Given the description of an element on the screen output the (x, y) to click on. 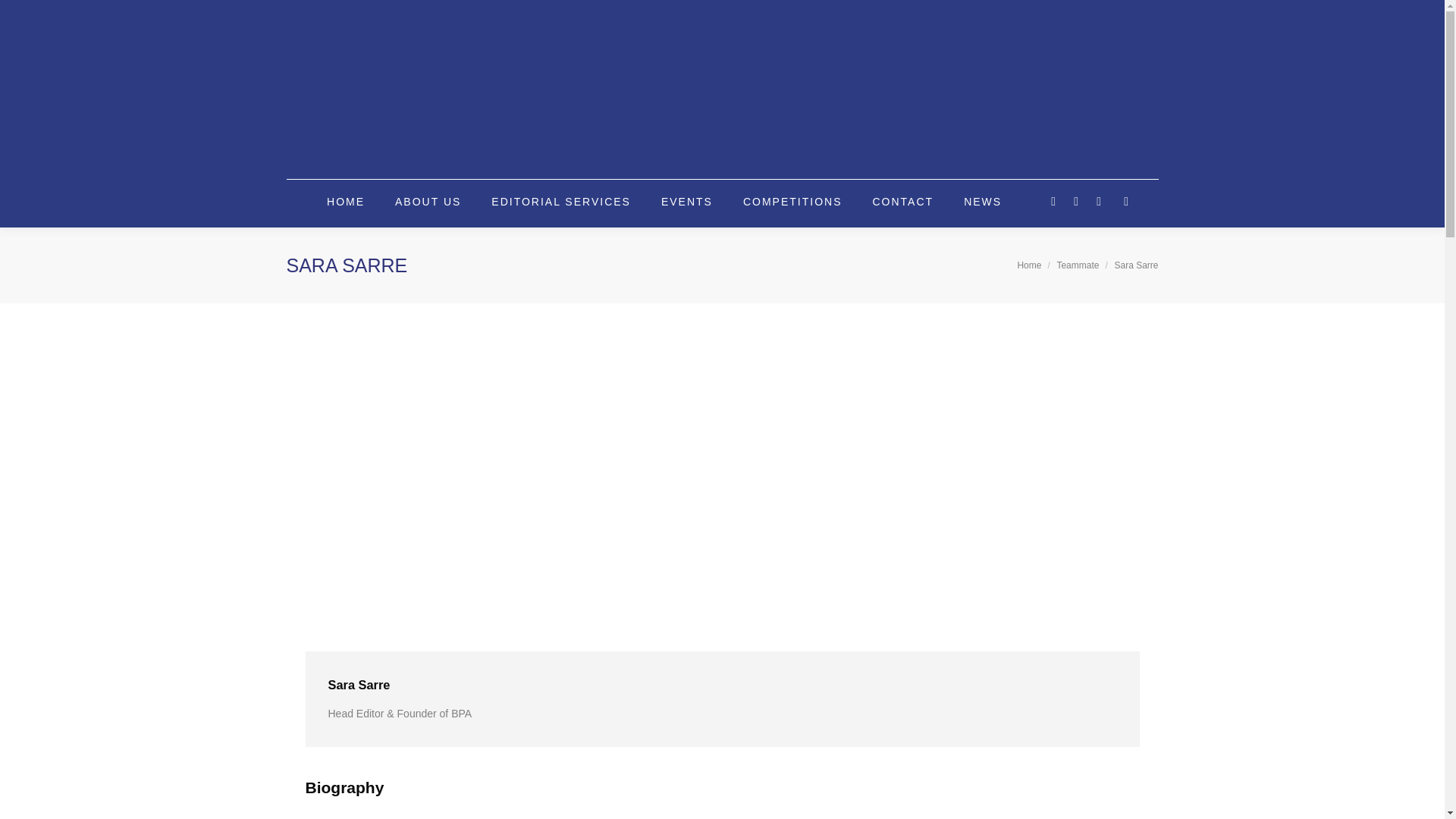
Home (1028, 265)
Instagram page opens in new window (1098, 201)
EDITORIAL SERVICES (561, 201)
COMPETITIONS (792, 201)
HOME (345, 201)
CONTACT (902, 201)
NEWS (982, 201)
EVENTS (686, 201)
X page opens in new window (1075, 201)
Facebook page opens in new window (1052, 201)
